Given the description of an element on the screen output the (x, y) to click on. 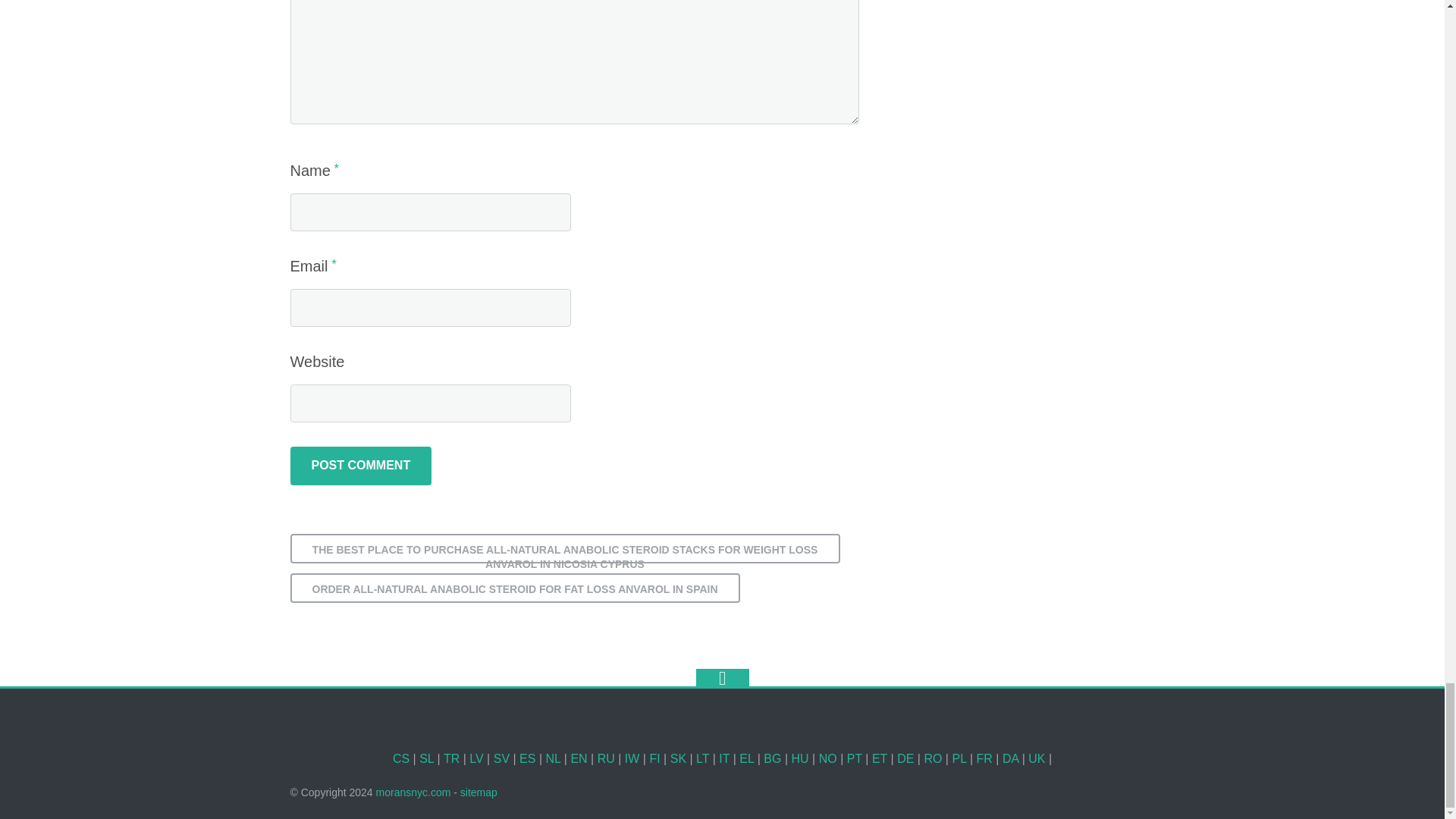
SL (426, 758)
Post Comment (359, 465)
Post Comment (359, 465)
CS (401, 758)
